Given the description of an element on the screen output the (x, y) to click on. 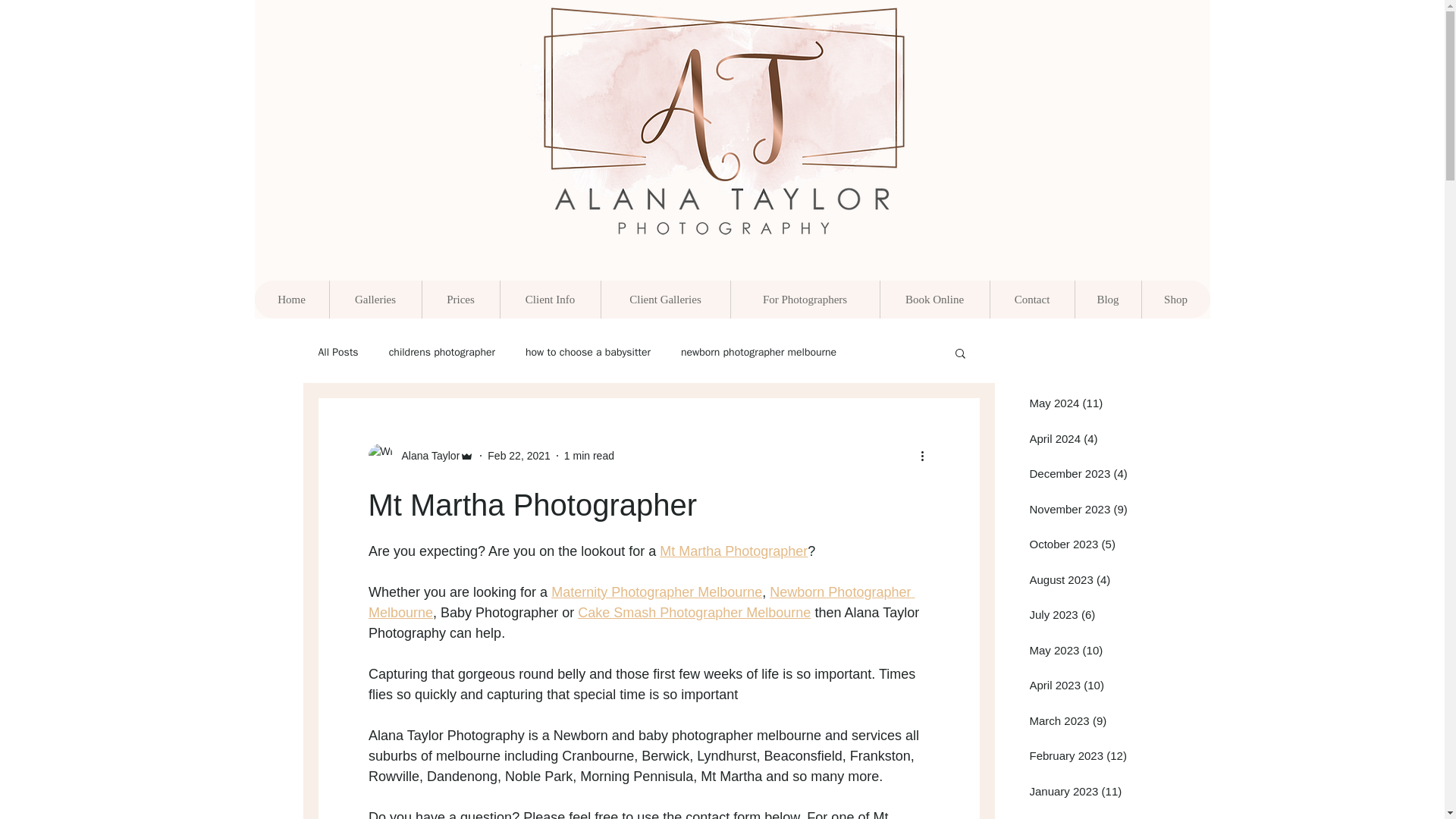
Book Online (934, 299)
Prices (460, 299)
For Photographers (804, 299)
Home (291, 299)
Feb 22, 2021 (518, 454)
Client Galleries (664, 299)
Client Info (549, 299)
Alana Taylor (426, 455)
Galleries (375, 299)
1 min read (589, 454)
